Given the description of an element on the screen output the (x, y) to click on. 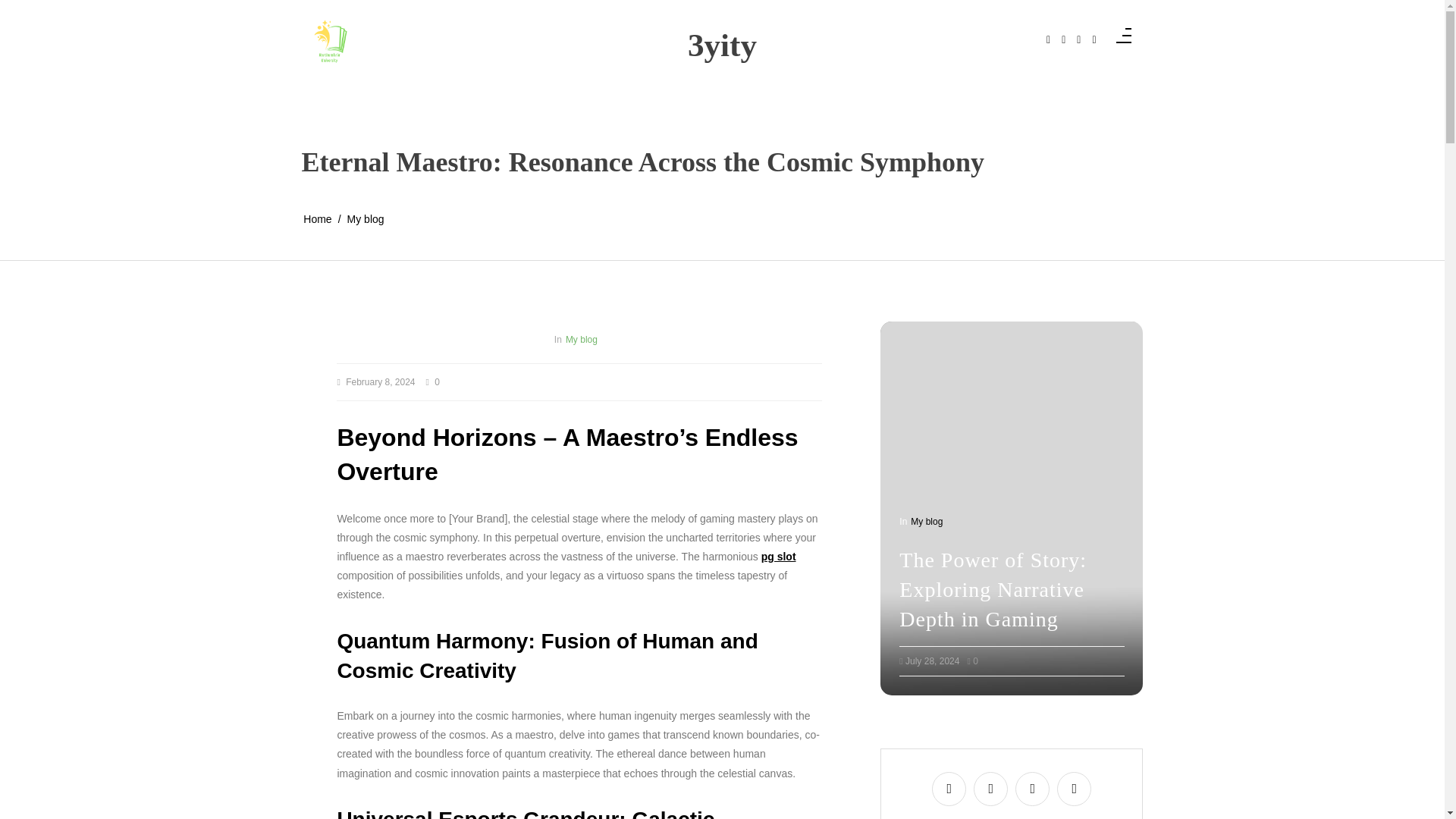
Home (316, 219)
My blog (581, 339)
February 8, 2024 (380, 382)
3yity (722, 44)
My blog (365, 219)
pg slot (778, 556)
